Given the description of an element on the screen output the (x, y) to click on. 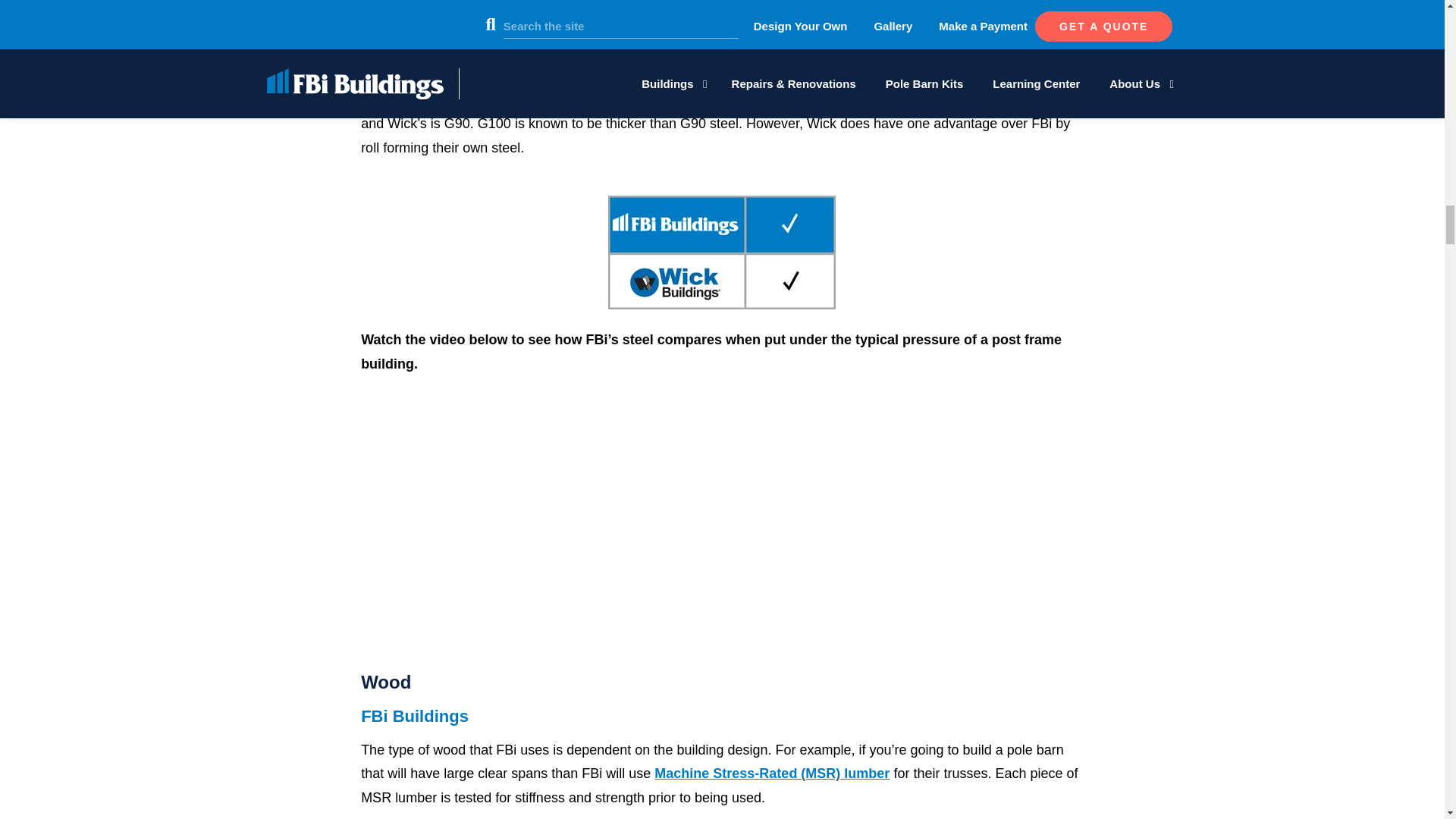
Update: Morton, Menards and FBi Steel Comparison Testing (722, 522)
